Given the description of an element on the screen output the (x, y) to click on. 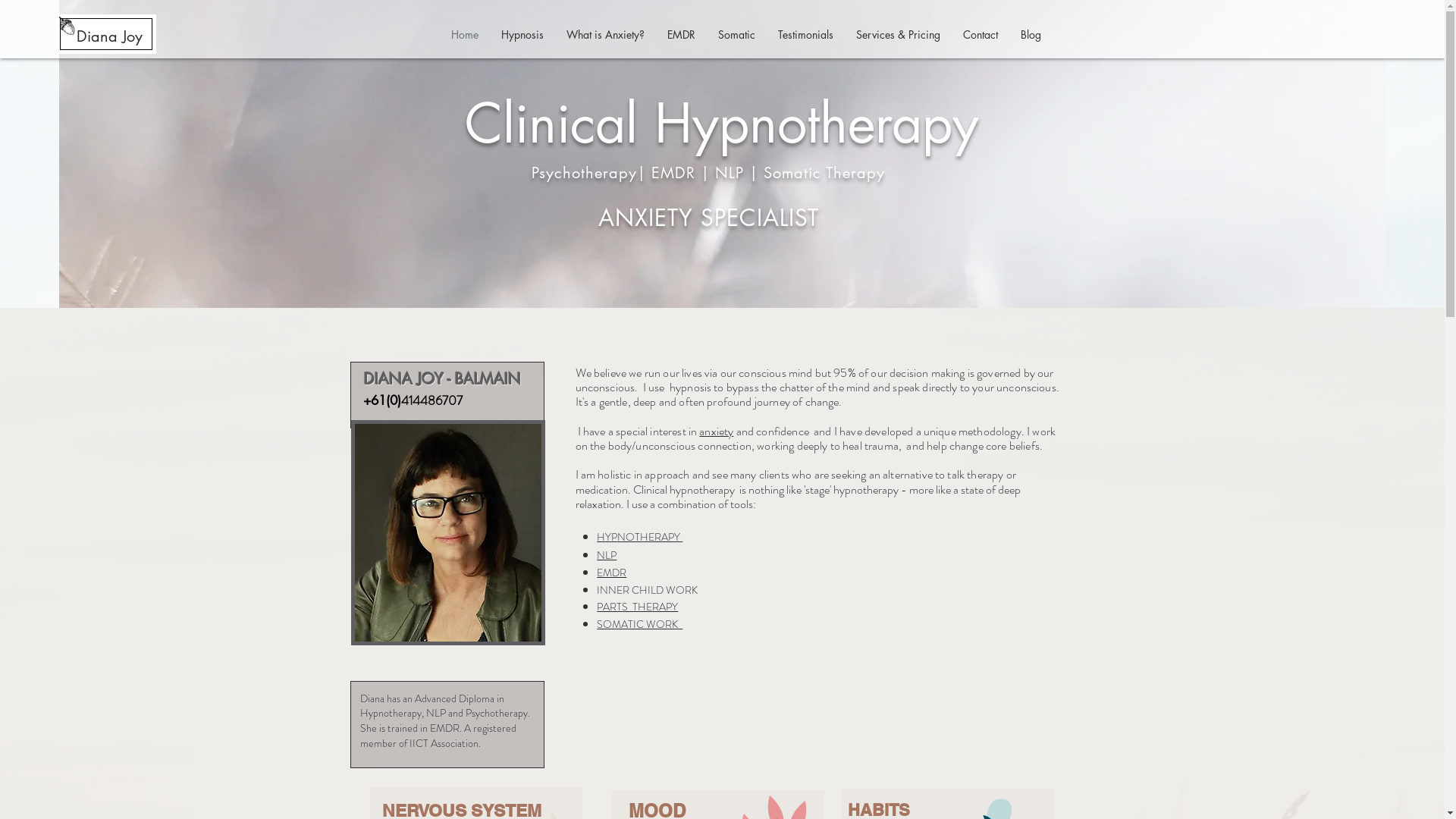
EMDR Element type: text (611, 572)
EMDR Element type: text (680, 34)
Home Element type: text (464, 34)
anxiety Element type: text (716, 430)
PARTS  THERAPY Element type: text (636, 606)
What is Anxiety? Element type: text (605, 34)
NLP Element type: text (606, 554)
 +61(0)414486707 Element type: text (410, 400)
SOMATIC WORK   Element type: text (639, 623)
and  Element type: text (746, 430)
Somatic Element type: text (736, 34)
Services & Pricing Element type: text (897, 34)
Testimonials Element type: text (804, 34)
  Element type: text (734, 430)
Hypnosis Element type: text (522, 34)
Contact Element type: text (979, 34)
Blog Element type: text (1029, 34)
  Element type: text (681, 536)
HYPNOTHERAPY Element type: text (638, 536)
Diana Joy Element type: text (109, 36)
